Given the description of an element on the screen output the (x, y) to click on. 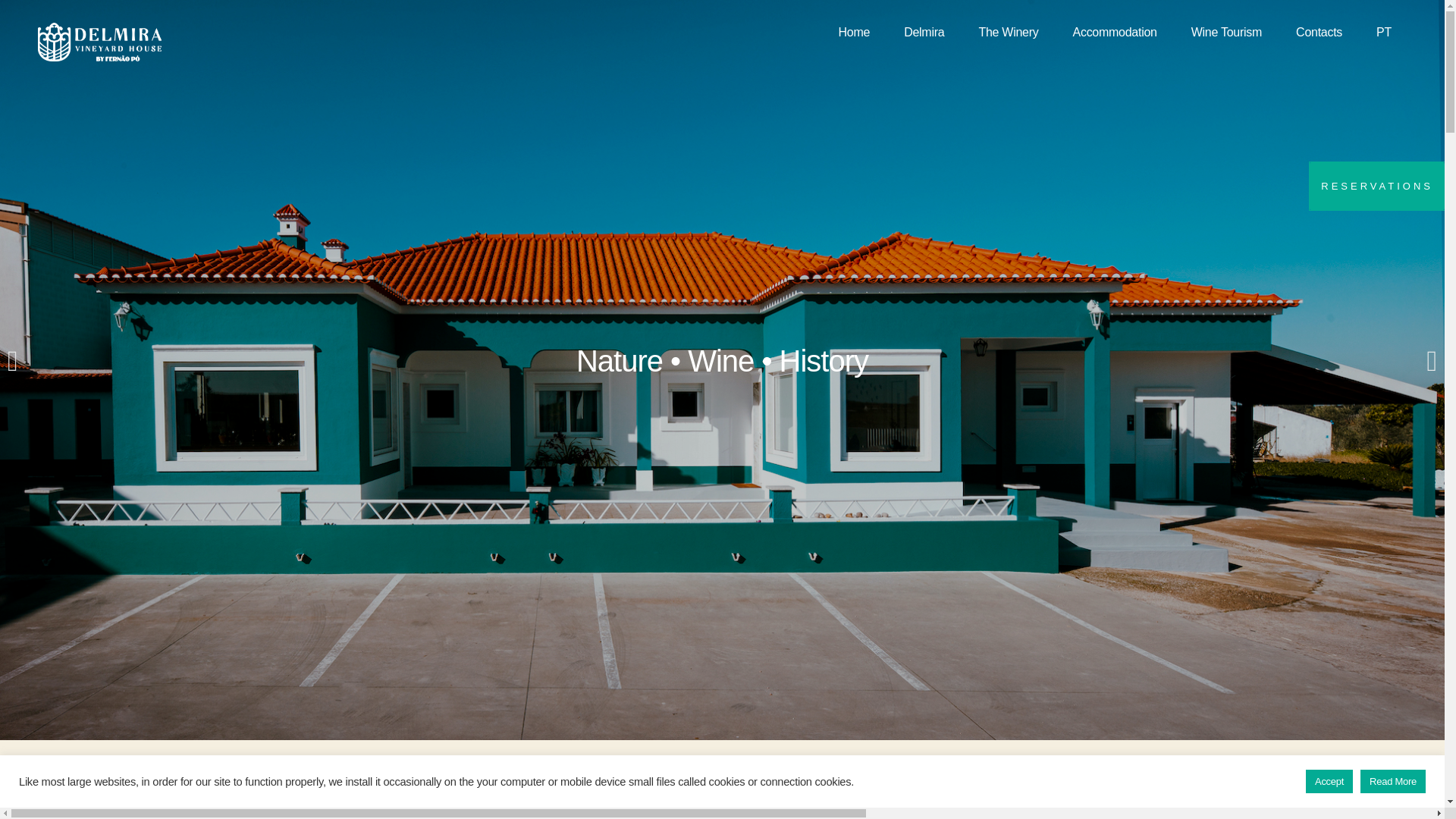
Contacts (1318, 32)
The Winery (1007, 32)
Wine Tourism (1226, 32)
Delmira (923, 32)
Home (854, 32)
PT (1383, 32)
Accommodation (1114, 32)
